Given the description of an element on the screen output the (x, y) to click on. 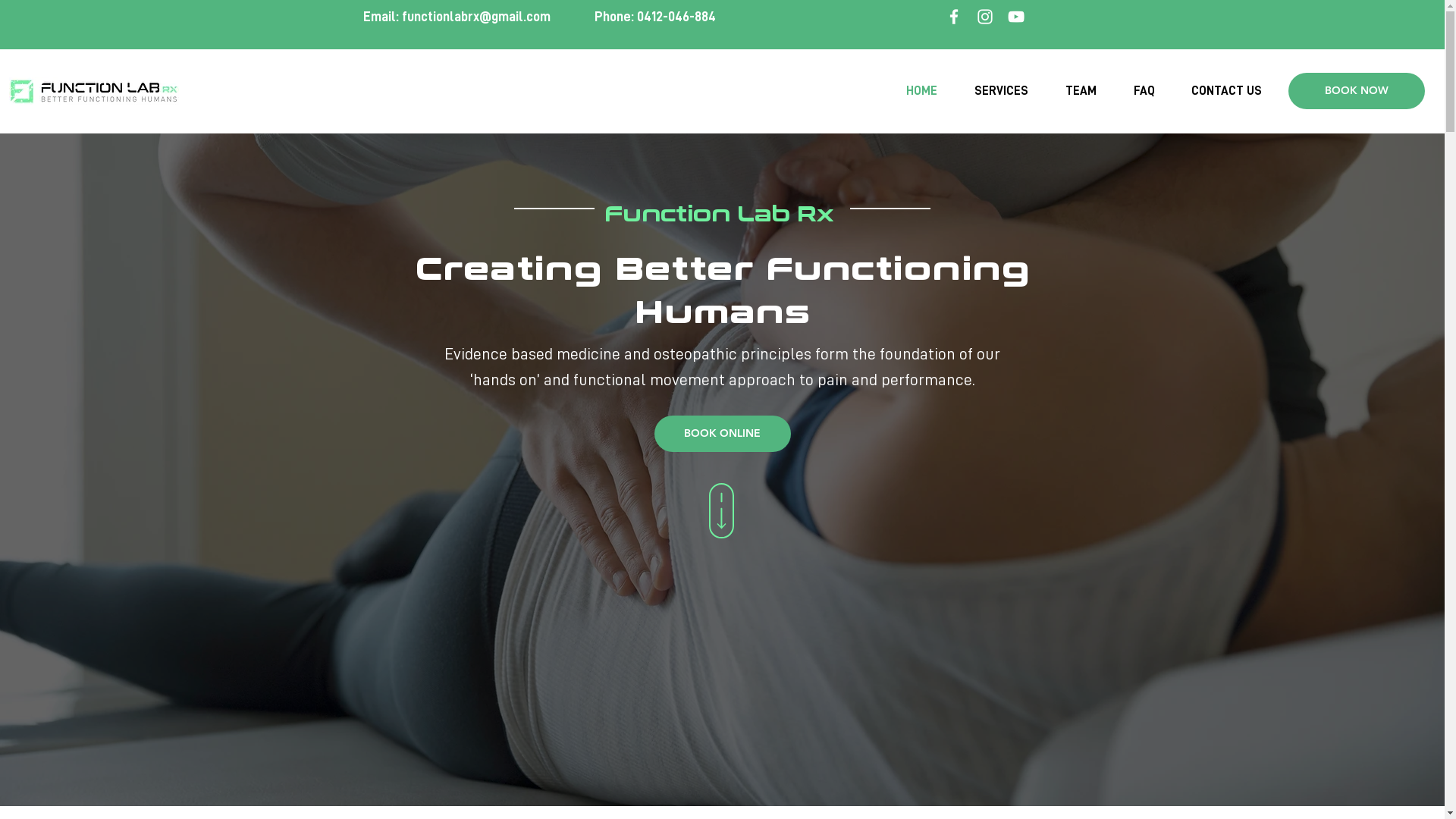
HOME Element type: text (921, 90)
FAQ Element type: text (1143, 90)
CONTACT US Element type: text (1226, 90)
functionlabrx@gmail.com Element type: text (475, 16)
BOOK NOW Element type: text (1356, 90)
TEAM Element type: text (1080, 90)
SERVICES Element type: text (1000, 90)
0412-046-884 Element type: text (676, 16)
BOOK ONLINE Element type: text (721, 433)
